Given the description of an element on the screen output the (x, y) to click on. 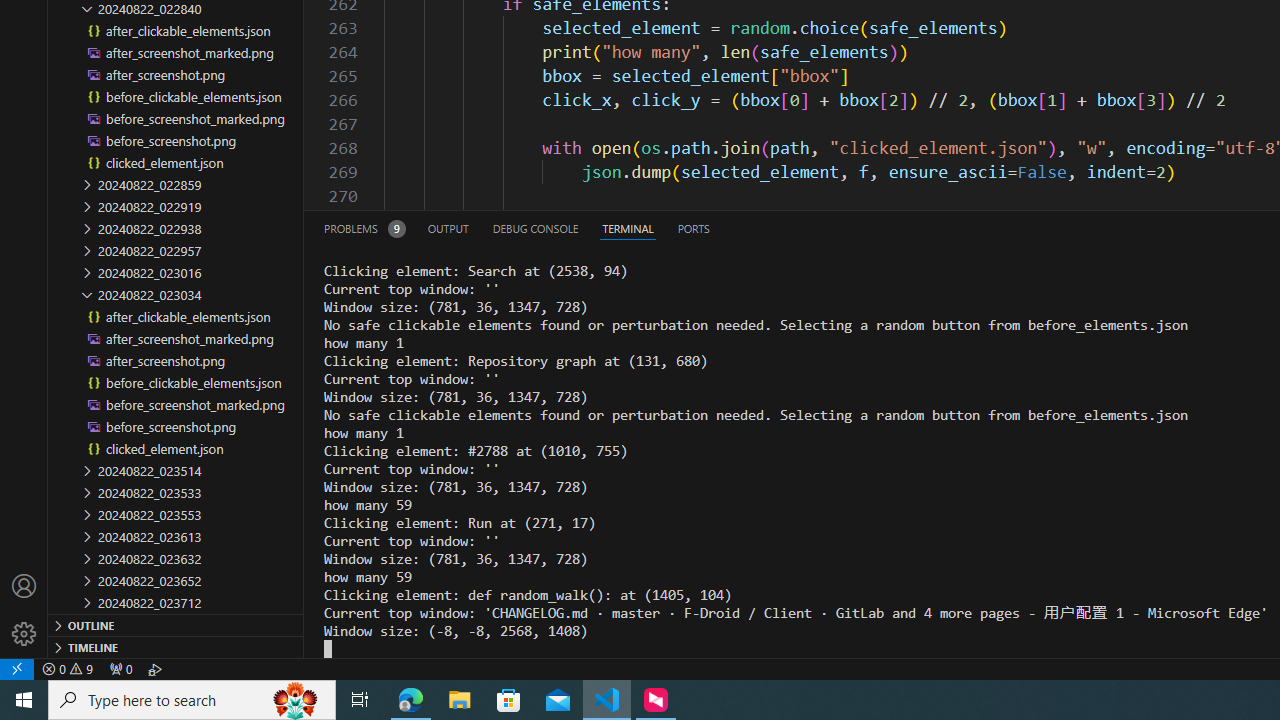
Debug Console (Ctrl+Shift+Y) (535, 228)
Terminal (Ctrl+`) (627, 228)
Timeline Section (175, 646)
Accounts (24, 585)
Output (Ctrl+Shift+U) (447, 228)
Ports (693, 228)
Problems (Ctrl+Shift+M) - Total 9 Problems (364, 228)
No Ports Forwarded (120, 668)
Manage (24, 633)
Outline Section (175, 624)
Warnings: 9 (67, 668)
Manage (24, 610)
remote (17, 668)
Debug:  (155, 668)
